Given the description of an element on the screen output the (x, y) to click on. 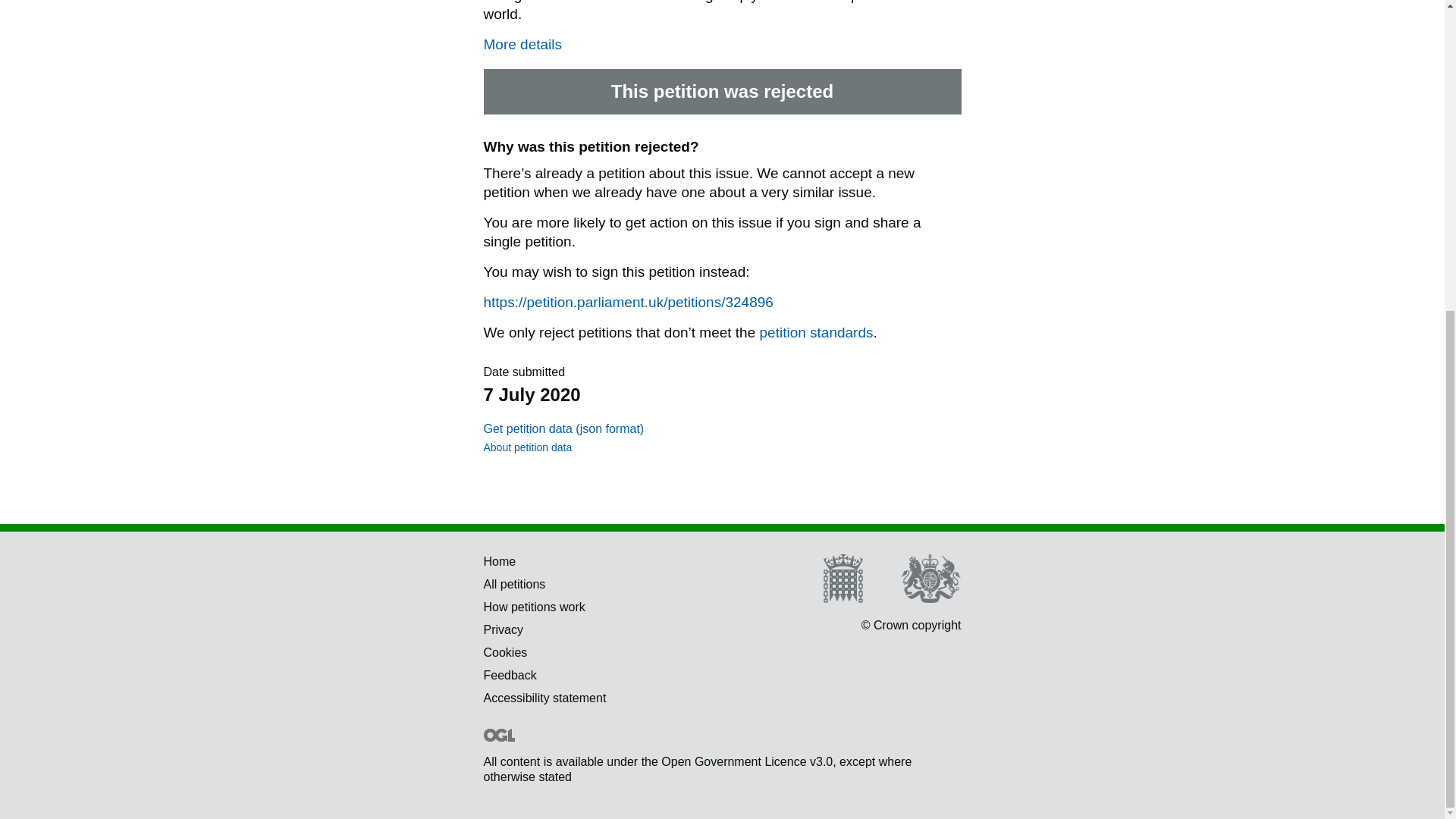
Home (499, 561)
Open Government Licence v3.0 (746, 761)
Open Government Licence (499, 735)
Accessibility statement (545, 697)
Feedback (510, 675)
petition standards (816, 332)
Privacy (502, 629)
All petitions (514, 584)
Cookies (505, 652)
How petitions work (534, 606)
